Given the description of an element on the screen output the (x, y) to click on. 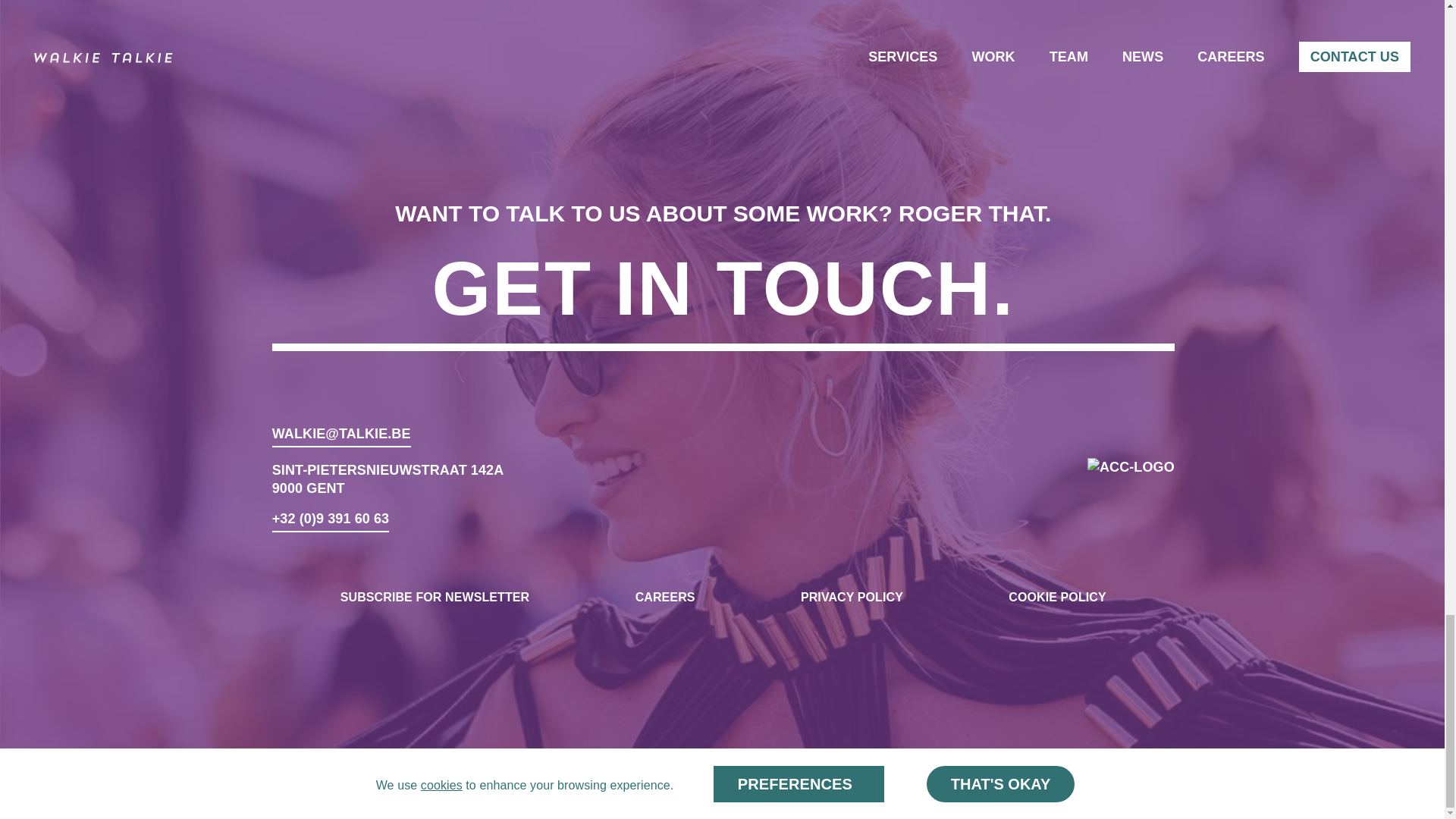
COOKIE POLICY (1057, 597)
SUBSCRIBE FOR NEWSLETTER (434, 597)
CAREERS (664, 597)
PRIVACY POLICY (851, 597)
GET IN TOUCH. (723, 296)
